Given the description of an element on the screen output the (x, y) to click on. 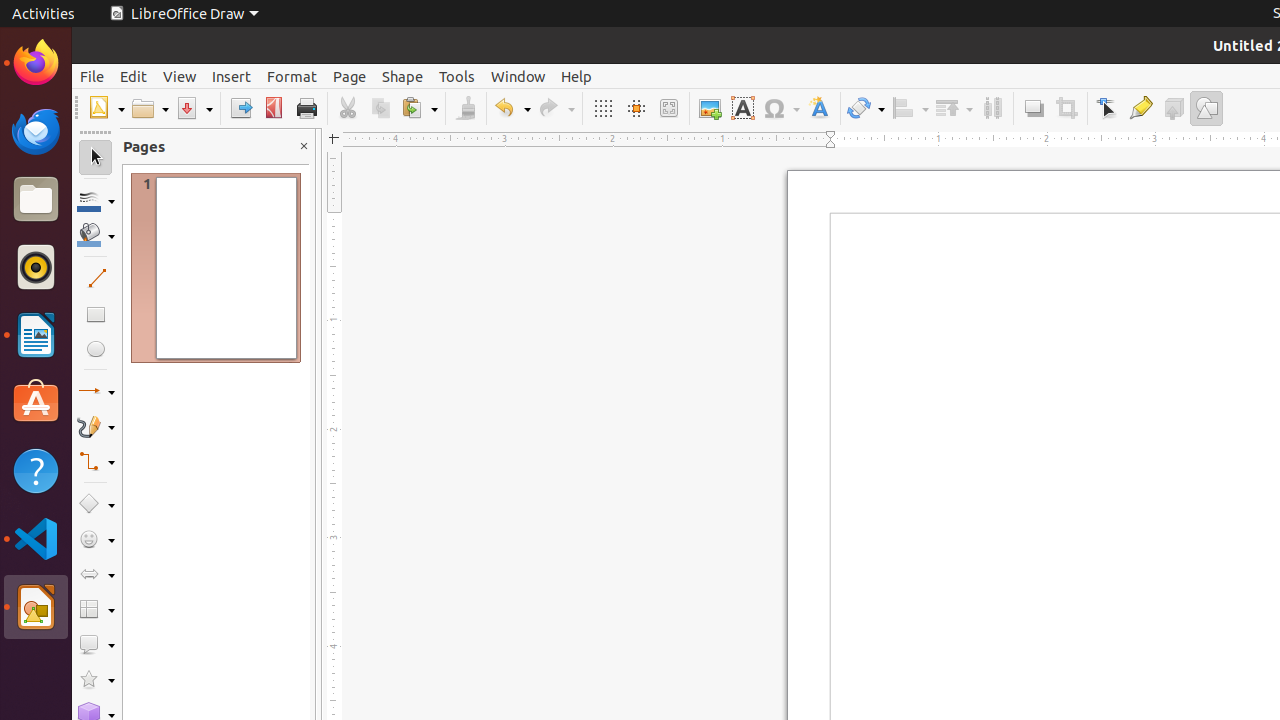
LibreOffice Draw Element type: push-button (36, 607)
Arrow Shapes Element type: push-button (96, 574)
PDF Element type: push-button (273, 108)
View Element type: menu (179, 76)
Zoom & Pan Element type: push-button (668, 108)
